Given the description of an element on the screen output the (x, y) to click on. 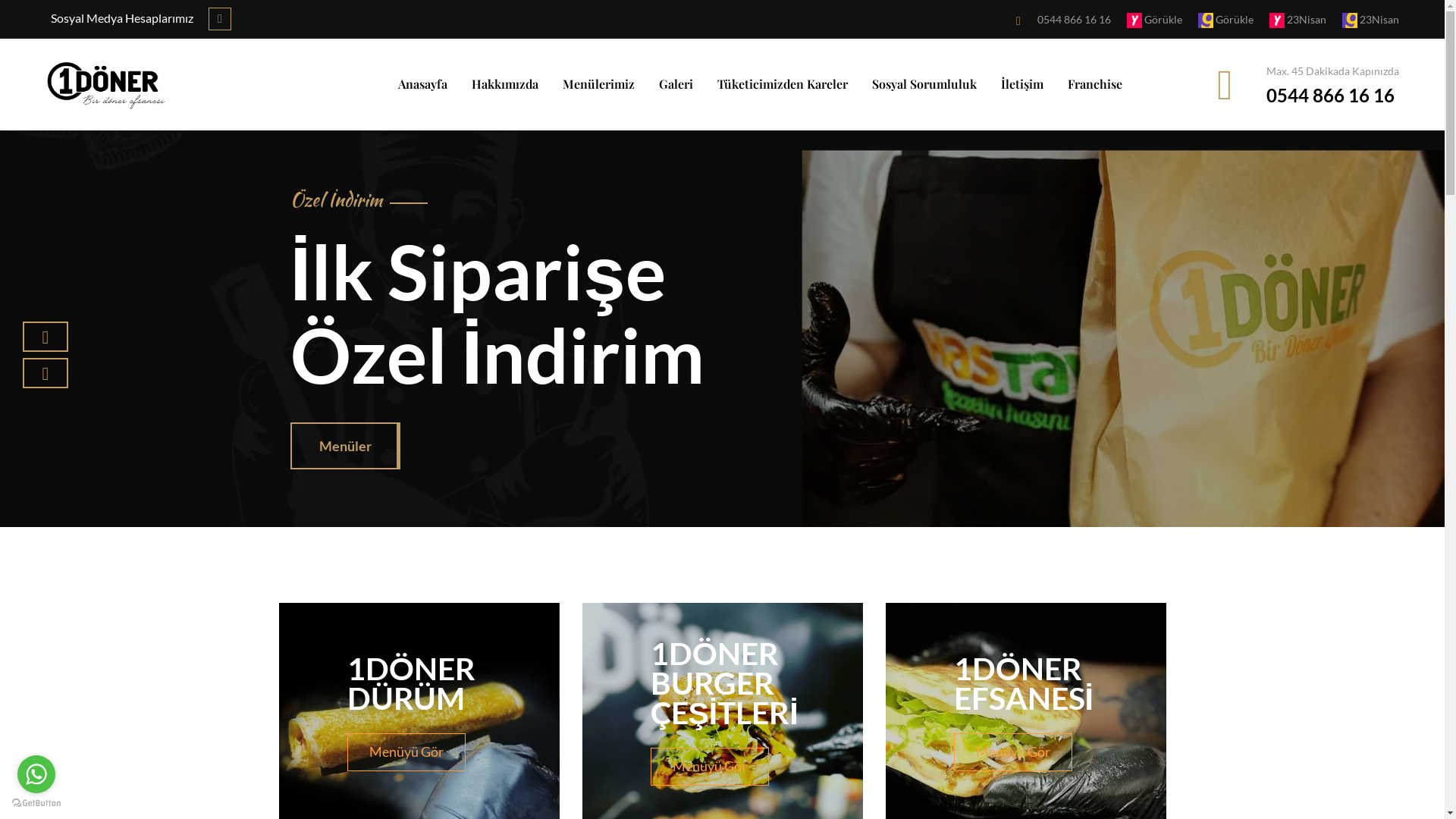
0544 866 16 16 Element type: text (1063, 18)
23Nisan Element type: text (1287, 18)
Galeri Element type: text (675, 83)
Anasayfa Element type: text (422, 83)
Franchise Element type: text (1094, 83)
0544 866 16 16 Element type: text (1330, 95)
23Nisan Element type: text (1360, 18)
Sosyal Sorumluluk Element type: text (924, 83)
